Given the description of an element on the screen output the (x, y) to click on. 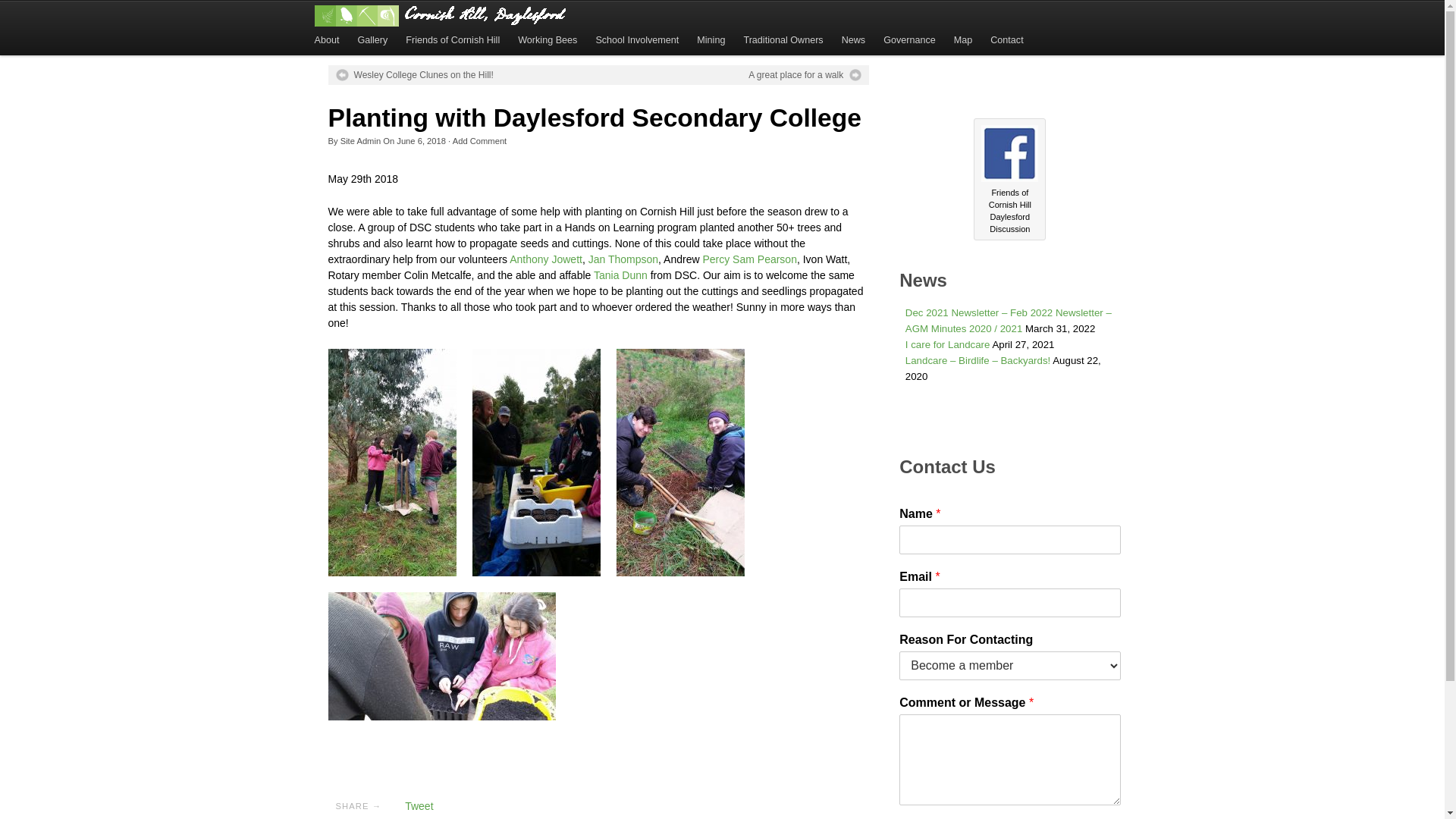
Mining Element type: text (710, 40)
News Element type: text (853, 40)
Tania Dunn Element type: text (620, 275)
Gallery Element type: text (372, 40)
Anthony Jowett Element type: text (545, 259)
Map Element type: text (963, 40)
Add Comment Element type: text (479, 140)
Governance Element type: text (909, 40)
Contact Element type: text (1006, 40)
I care for Landcare Element type: text (947, 344)
Wesley College Clunes on the Hill! Element type: text (413, 75)
Cornish Hill Daylesford Element type: hover (440, 15)
Friends of Cornish Hill Element type: text (452, 40)
School Involvement Element type: text (636, 40)
Traditional Owners Element type: text (782, 40)
Friends of Cornish Hill Daylesford Discussion Element type: hover (1009, 153)
Tweet Element type: text (418, 806)
Percy Sam Pearson Element type: text (749, 259)
Working Bees Element type: text (547, 40)
A great place for a walk Element type: text (804, 75)
Jan Thompson Element type: text (623, 259)
Site Admin Element type: text (360, 140)
About Element type: text (326, 40)
